Given the description of an element on the screen output the (x, y) to click on. 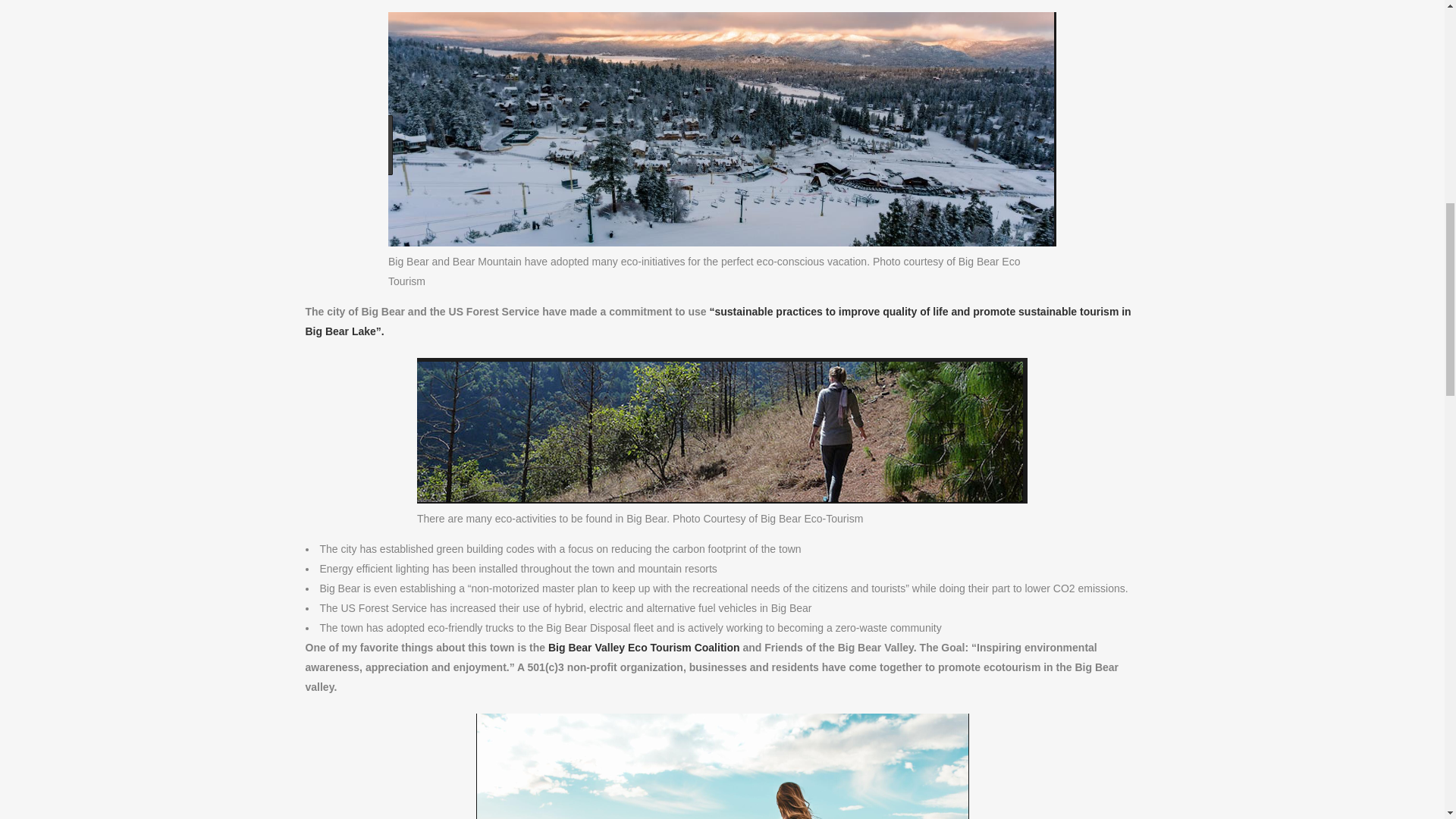
Big Bear Valley Eco Tourism Coalition (643, 647)
